Given the description of an element on the screen output the (x, y) to click on. 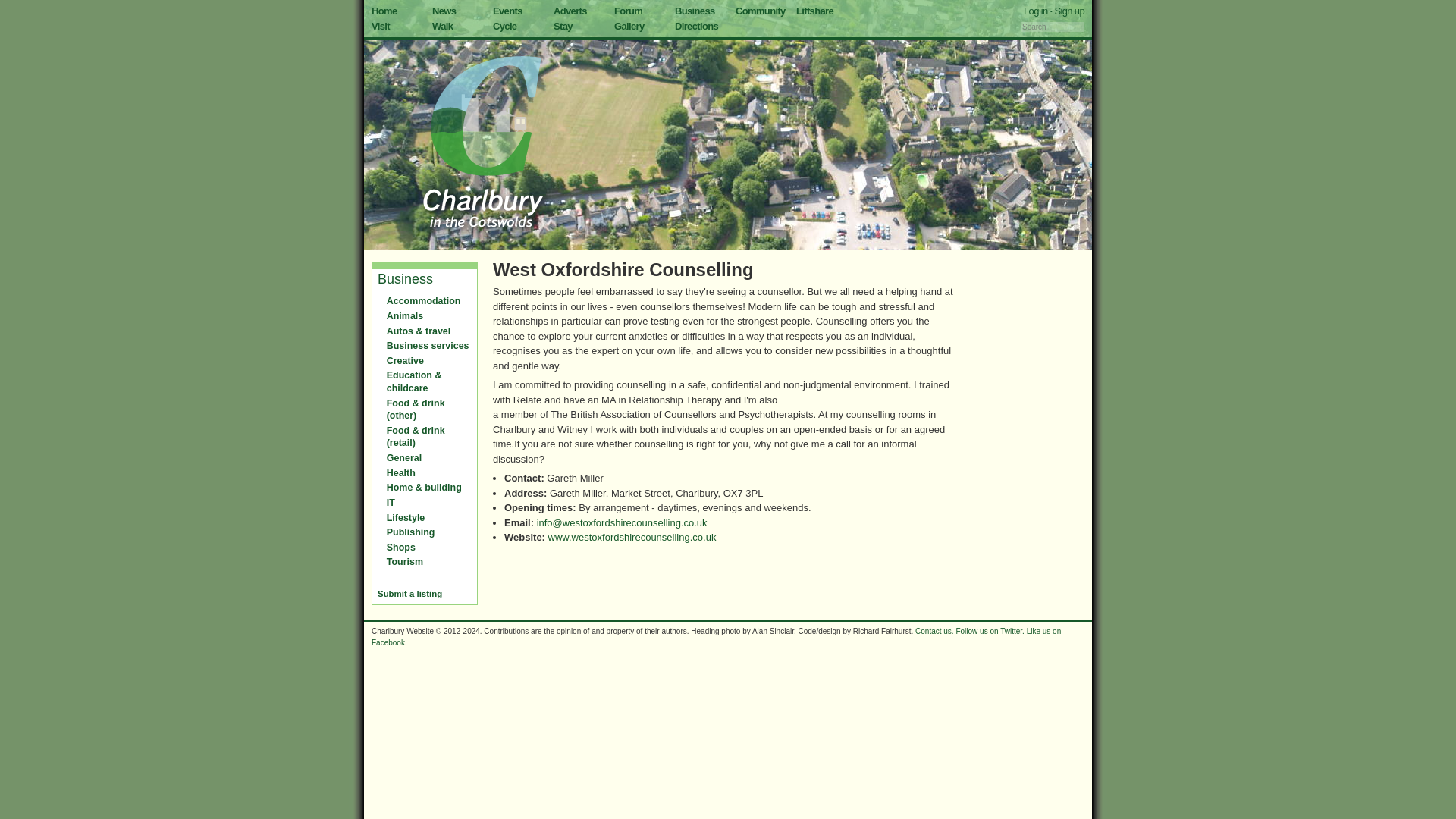
Cycle (504, 25)
Log in (1035, 10)
Business (404, 278)
Accommodation (424, 300)
Stay (562, 25)
Forum (628, 10)
Gallery (629, 25)
News (443, 10)
Events (507, 10)
Visit (380, 25)
Home (384, 10)
Sign up (1069, 10)
Community (760, 10)
Adverts (569, 10)
Liftshare (814, 10)
